Given the description of an element on the screen output the (x, y) to click on. 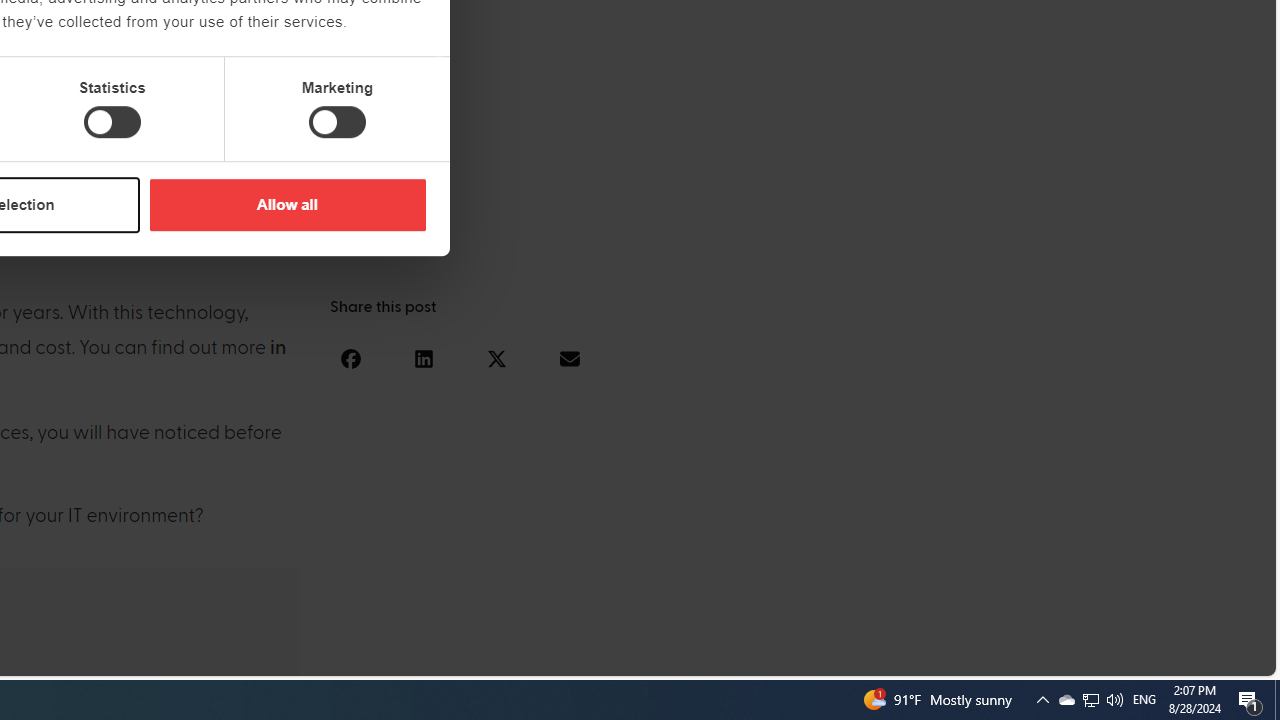
Statistics (111, 121)
Language switcher : Norwegian (985, 657)
Language switcher : Greek (1145, 657)
Language switcher : Finnish (1165, 657)
Marketing (337, 121)
Language switcher : Dutch (965, 657)
Allow all (287, 204)
Language switcher : Portuguese (1185, 657)
Language switcher : Slovenian (1066, 657)
Language switcher : Swedish (1105, 657)
